Given the description of an element on the screen output the (x, y) to click on. 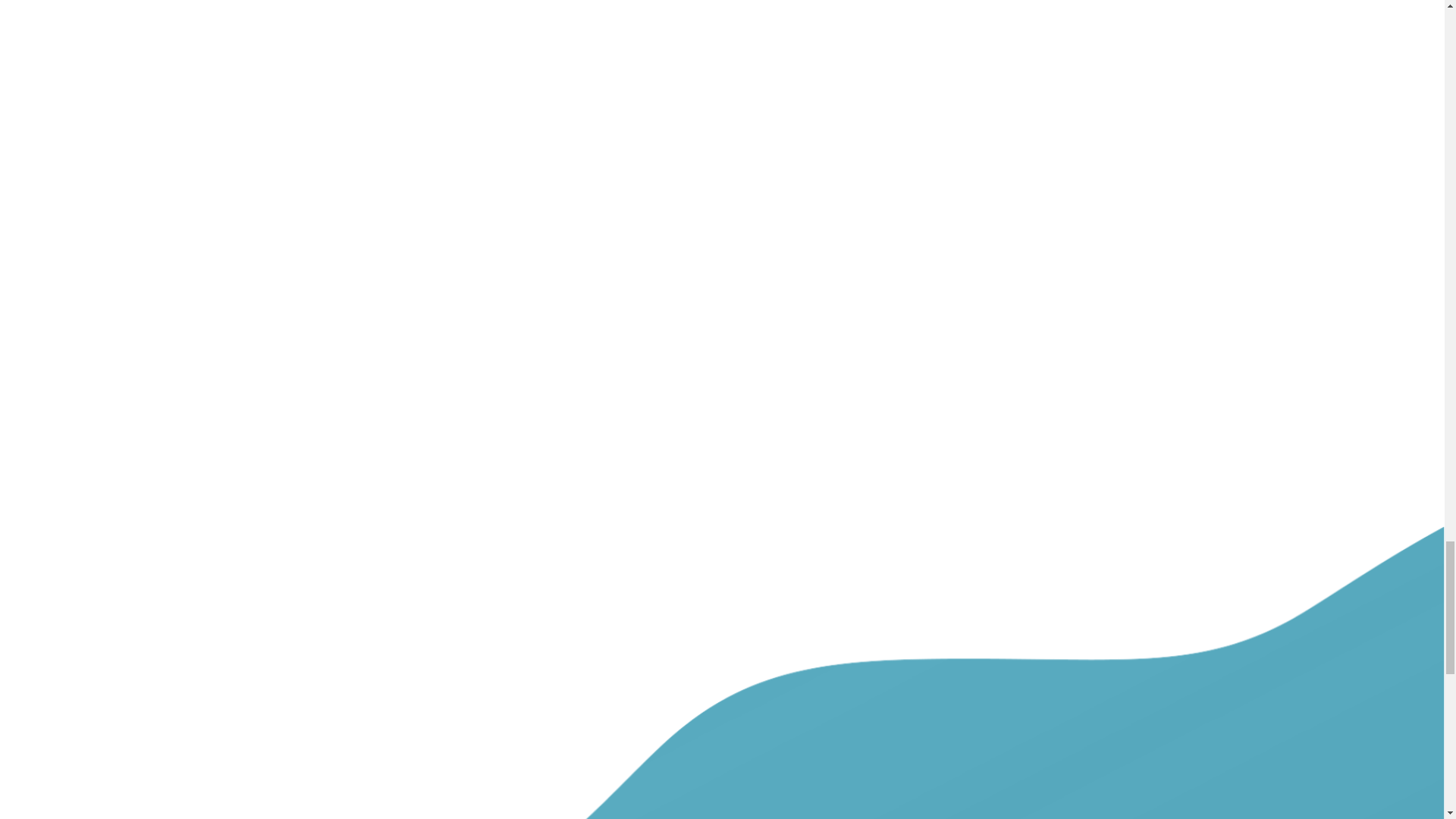
send message (433, 525)
